Given the description of an element on the screen output the (x, y) to click on. 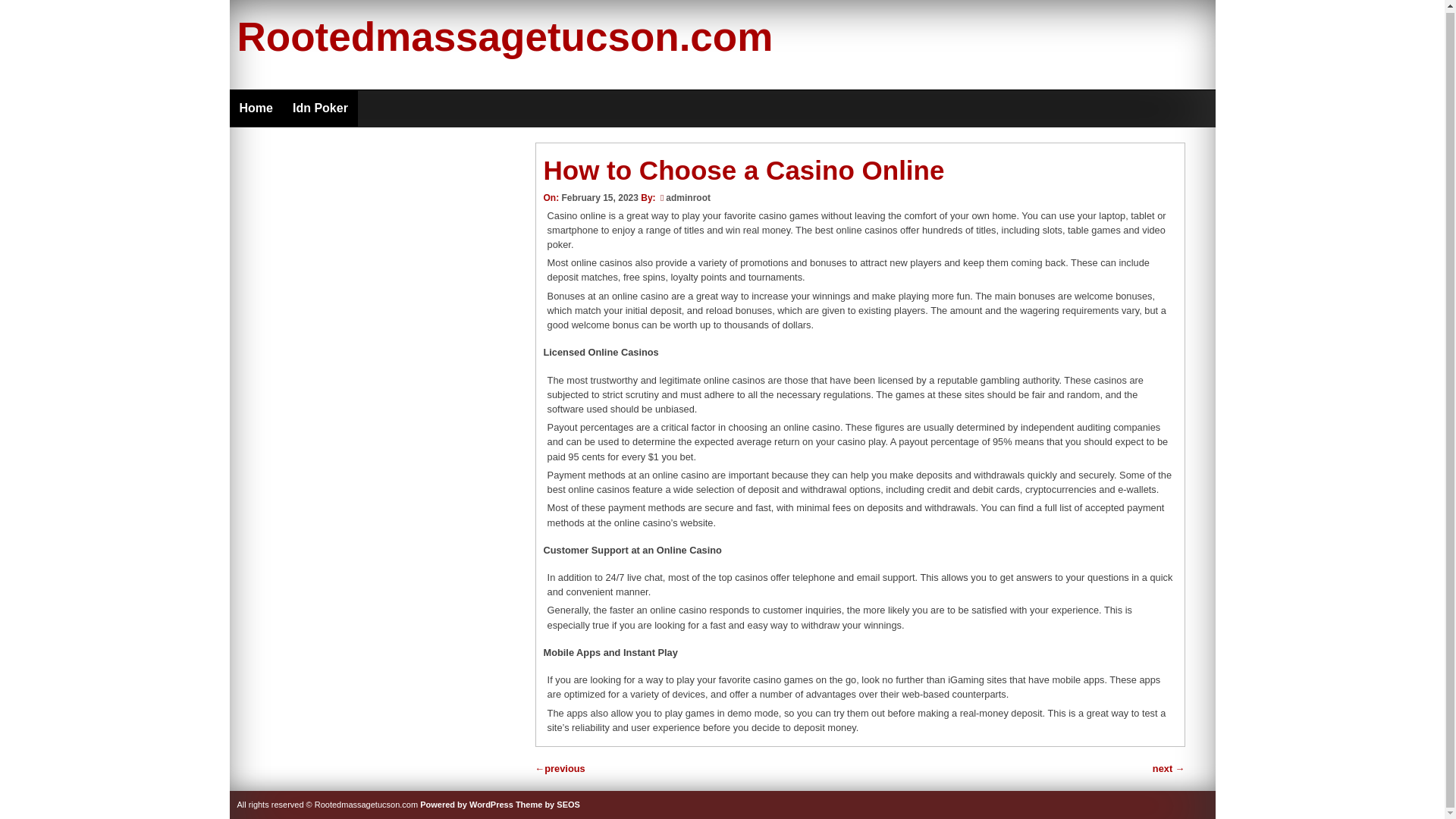
Theme by SEOS (547, 804)
Rootedmassagetucson.com (504, 36)
Idn Poker (320, 108)
Powered by WordPress (466, 804)
adminroot (687, 197)
February 15, 2023 (598, 197)
Home (255, 108)
Seos free wordpress themes (547, 804)
